Given the description of an element on the screen output the (x, y) to click on. 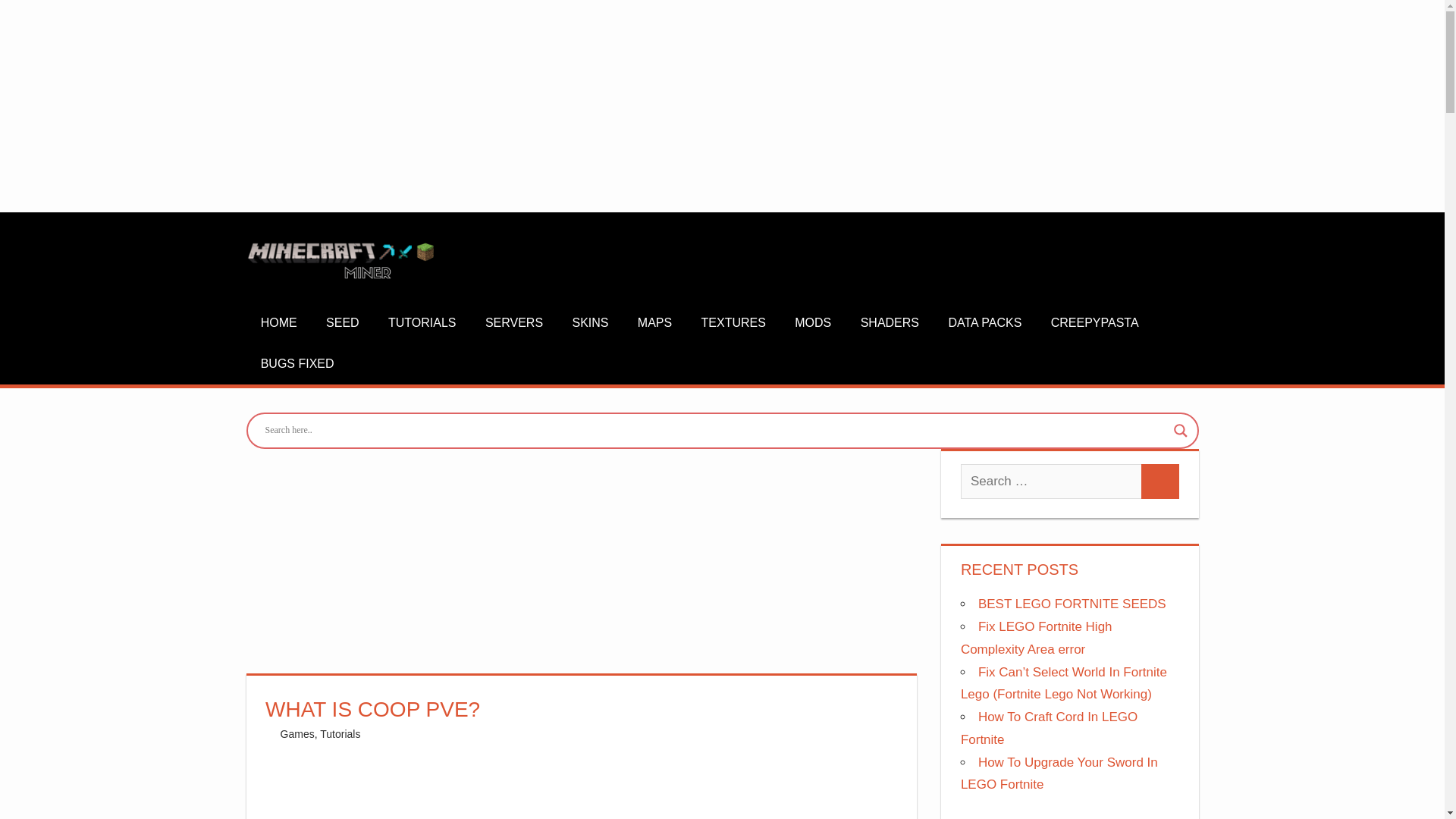
Leave a comment (433, 734)
SERVERS (513, 323)
DATA PACKS (984, 323)
TUTORIALS (422, 323)
CREEPYPASTA (1094, 323)
SEED (342, 323)
Games (297, 734)
TEXTURES (732, 323)
MAPS (655, 323)
SKINS (590, 323)
NikoKostaZapater (323, 734)
View all posts by NikoKostaZapater (323, 734)
Tutorials (339, 734)
